Given the description of an element on the screen output the (x, y) to click on. 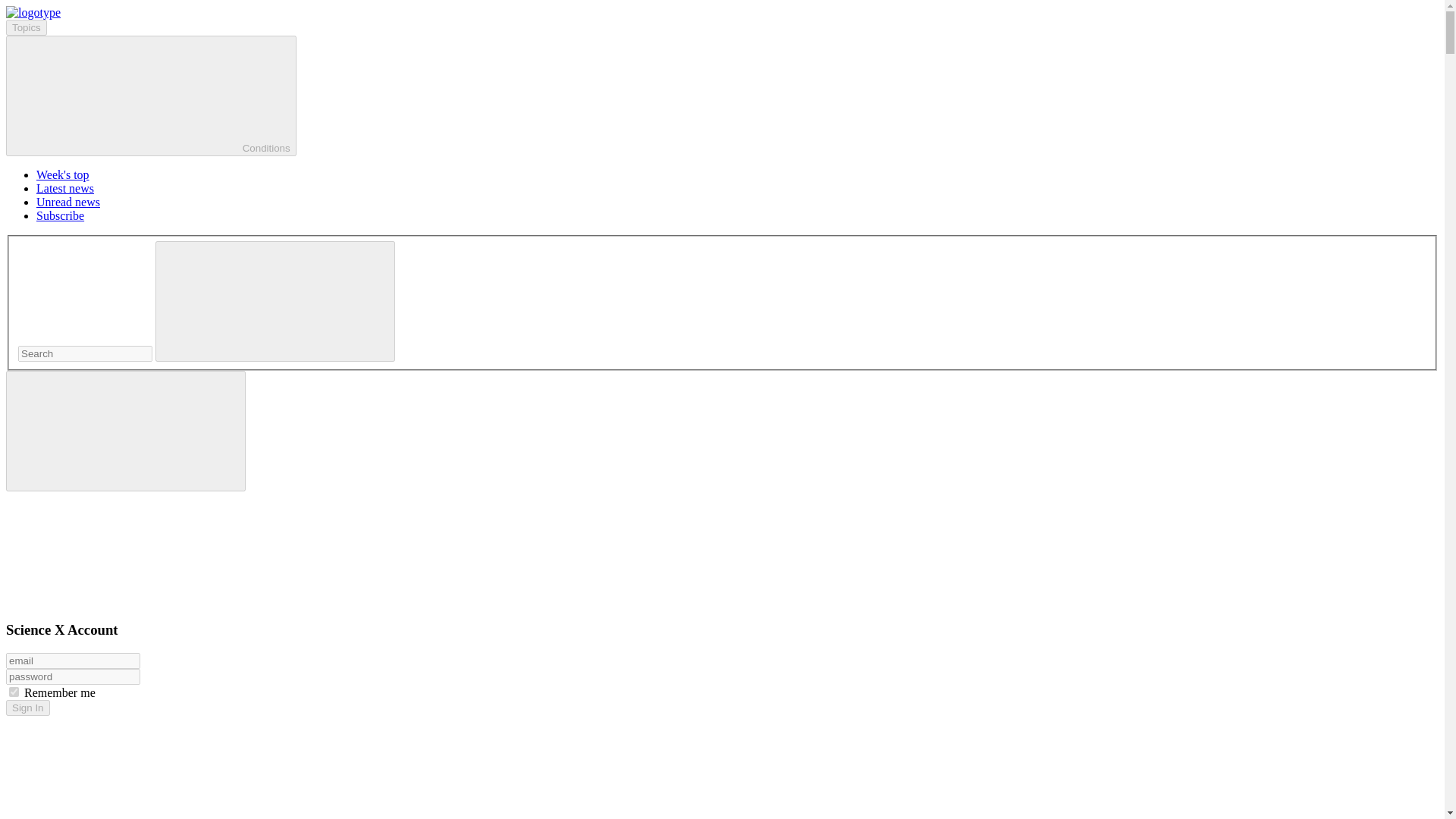
on (13, 691)
Topics (25, 27)
Conditions (151, 96)
Sign In (27, 707)
Week's top (62, 174)
Unread news (68, 201)
Subscribe (60, 215)
Latest news (65, 187)
